Given the description of an element on the screen output the (x, y) to click on. 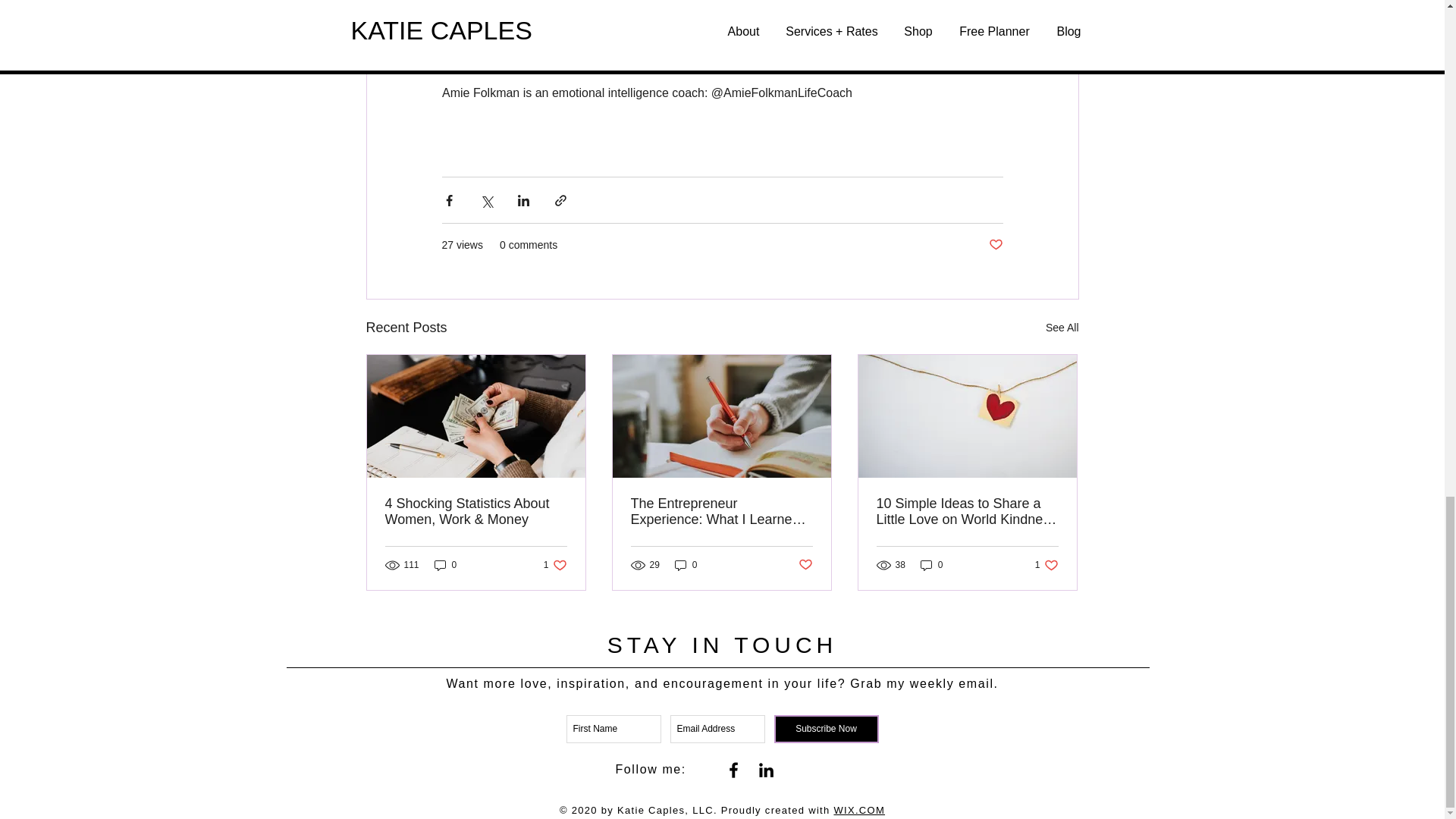
Post not marked as liked (995, 245)
Subscribe Now (825, 728)
Post not marked as liked (1046, 564)
0 (804, 564)
0 (555, 564)
WIX.COM (445, 564)
See All (931, 564)
10 Simple Ideas to Share a Little Love on World Kindness Day (858, 809)
0 (1061, 327)
